Given the description of an element on the screen output the (x, y) to click on. 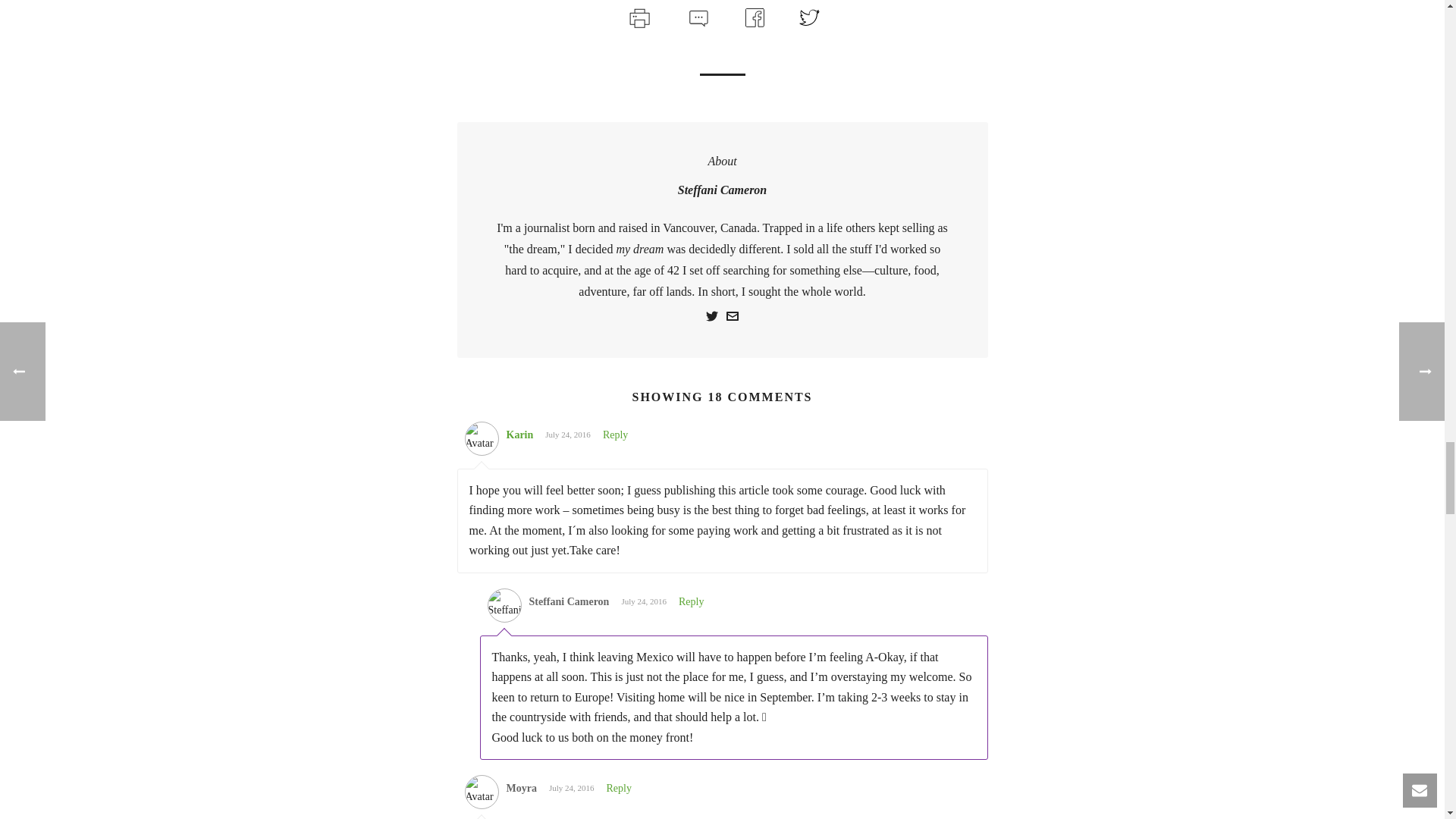
Get in touch with me via email (732, 318)
Follow me on Twitter (711, 318)
Print (638, 16)
